Given the description of an element on the screen output the (x, y) to click on. 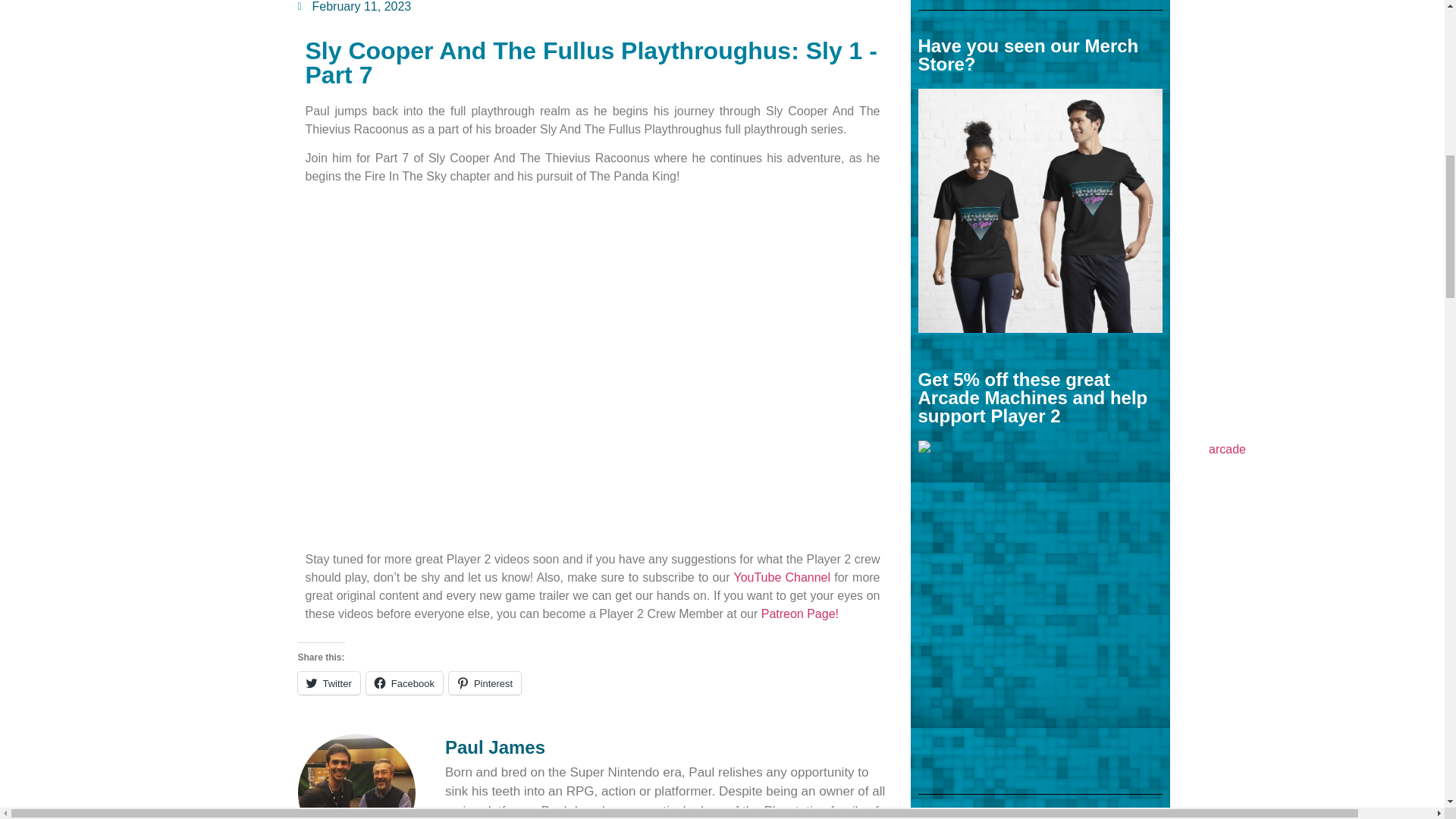
Click to share on Twitter (328, 682)
Click to share on Facebook (404, 682)
Click to share on Pinterest (484, 682)
